Given the description of an element on the screen output the (x, y) to click on. 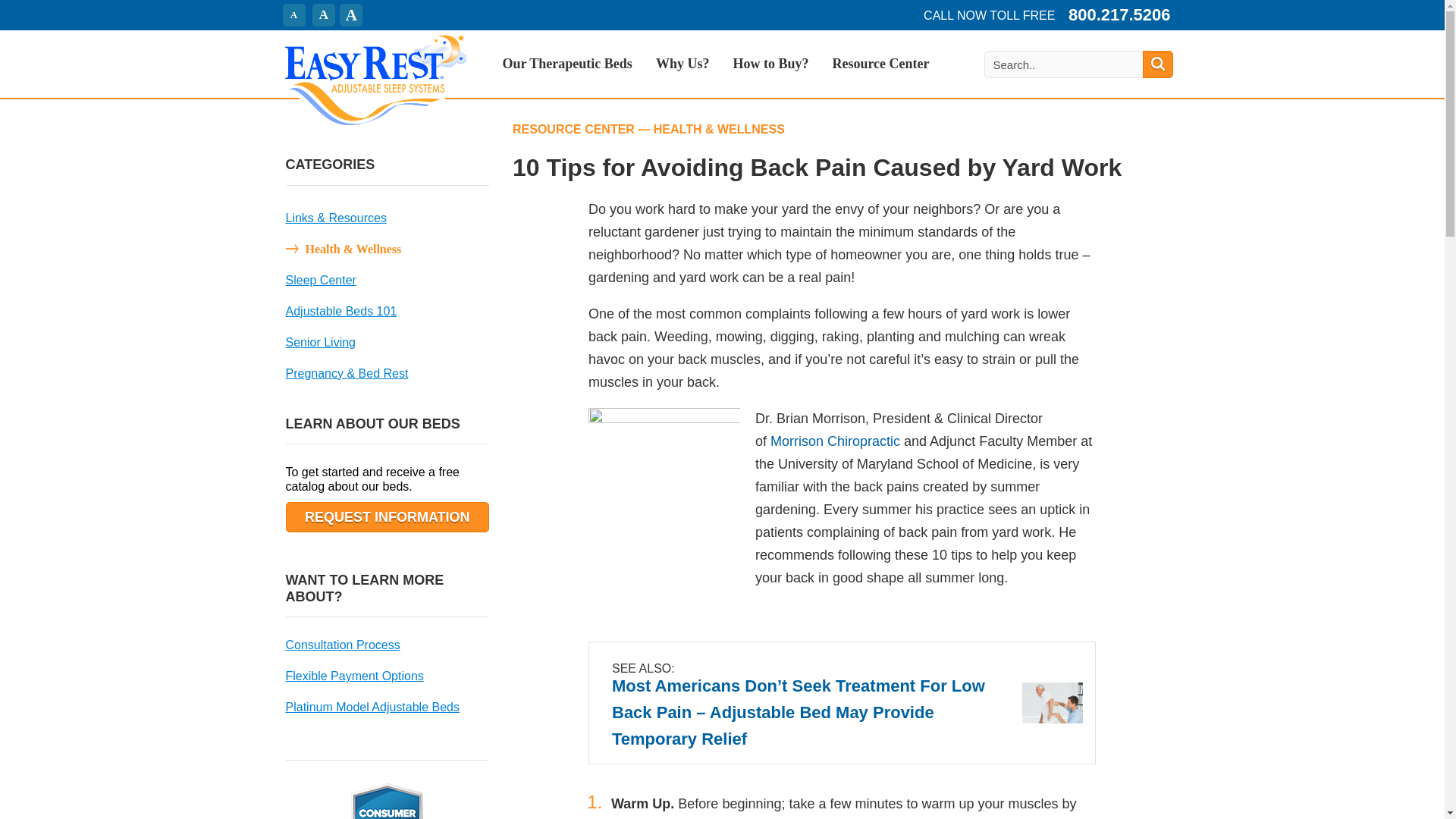
A (323, 15)
800.217.5206 (1119, 14)
Resource Center (879, 76)
Why Us? (683, 76)
How to Buy? (770, 76)
A (350, 15)
A (293, 15)
Our Therapeutic Beds (566, 76)
Morrison Chiropractic (834, 441)
